Given the description of an element on the screen output the (x, y) to click on. 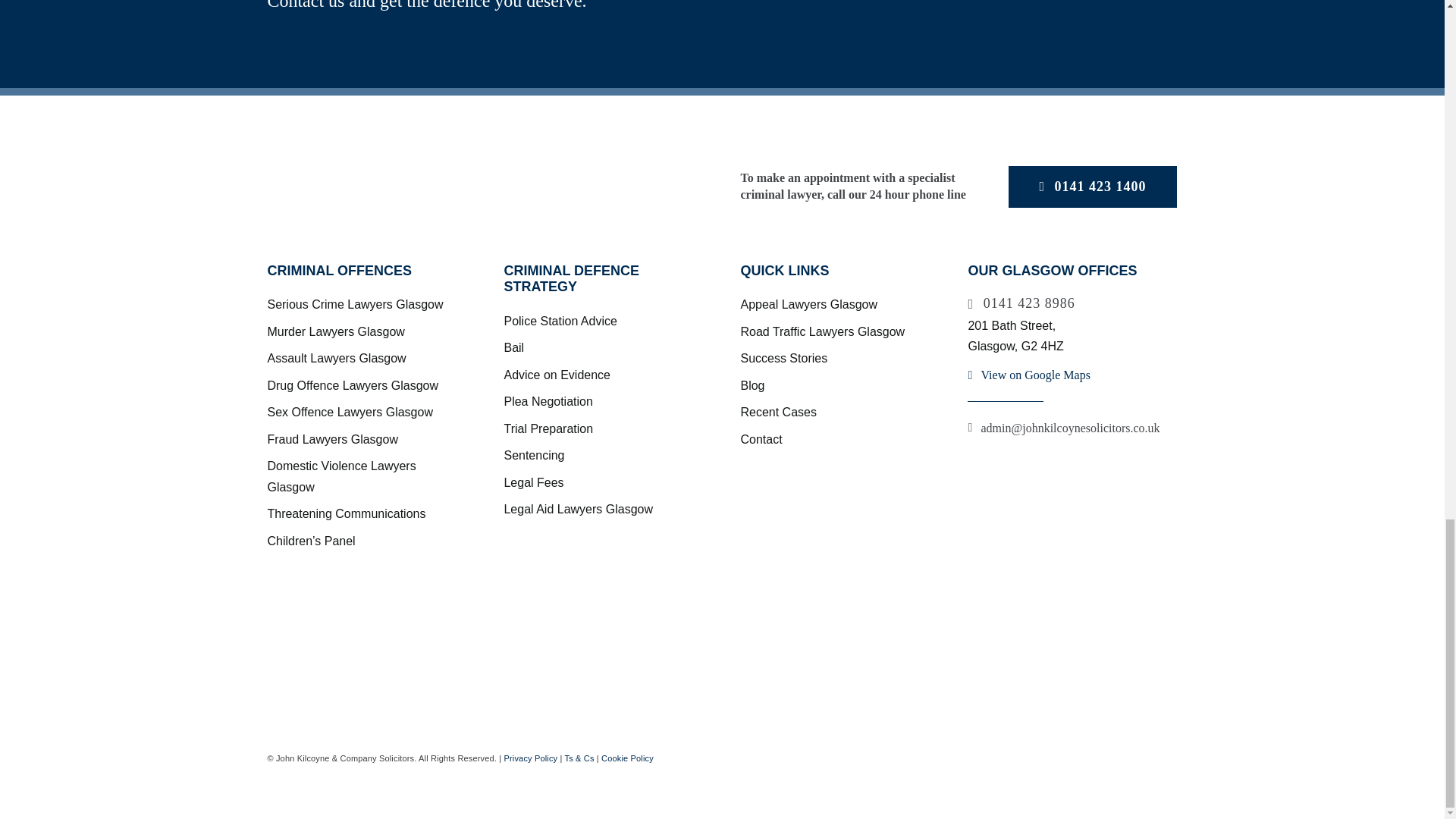
johnkilcoynecompanysolicitors-glasgow (452, 617)
kilcoyne-company-logo (456, 186)
